Given the description of an element on the screen output the (x, y) to click on. 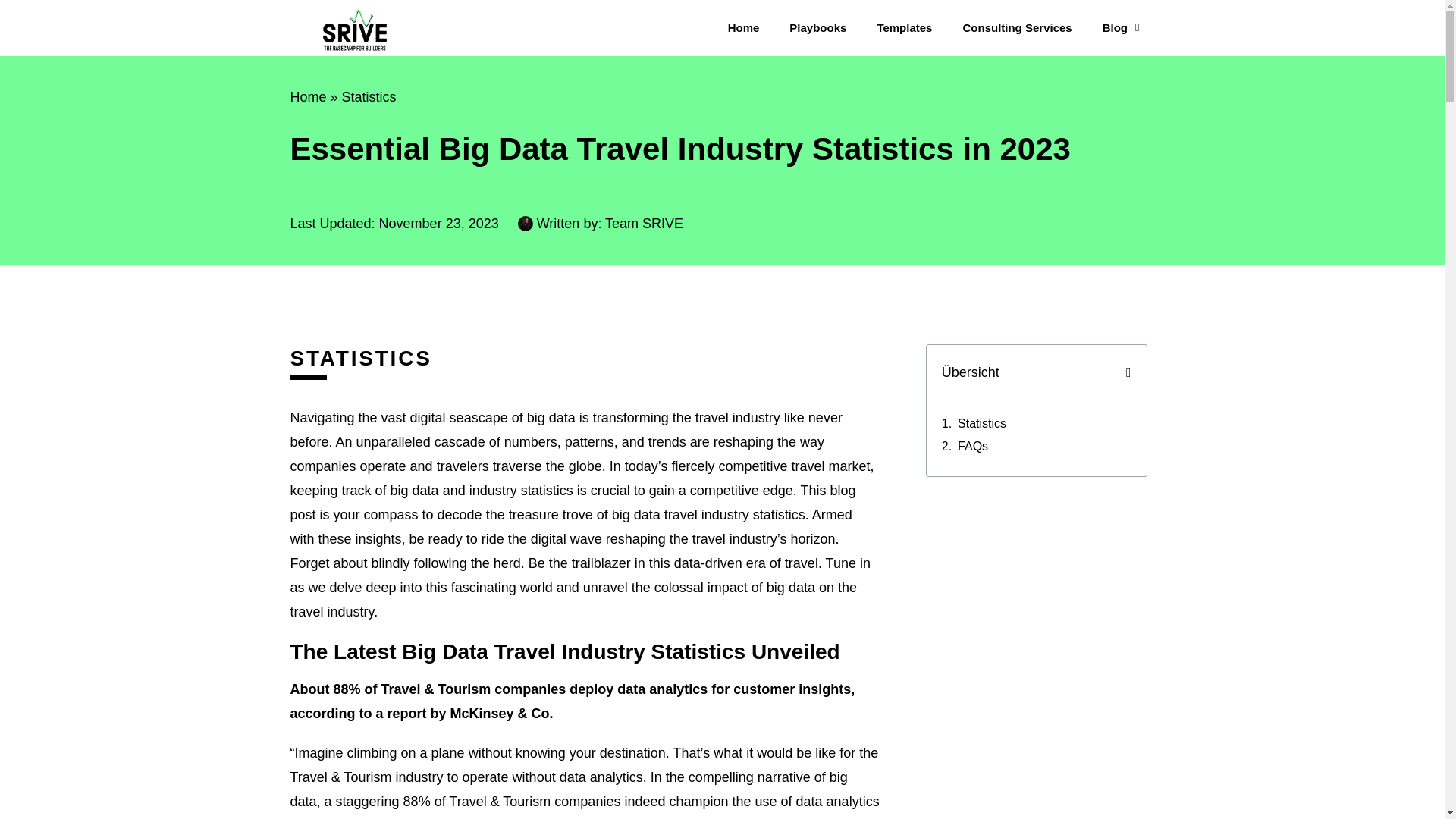
Home (743, 27)
Blog (1120, 27)
Home (307, 96)
Playbooks (817, 27)
Consulting Services (1016, 27)
Statistics (369, 96)
FAQs (973, 446)
Templates (904, 27)
Statistics (982, 423)
Written by: Team SRIVE (600, 223)
